Given the description of an element on the screen output the (x, y) to click on. 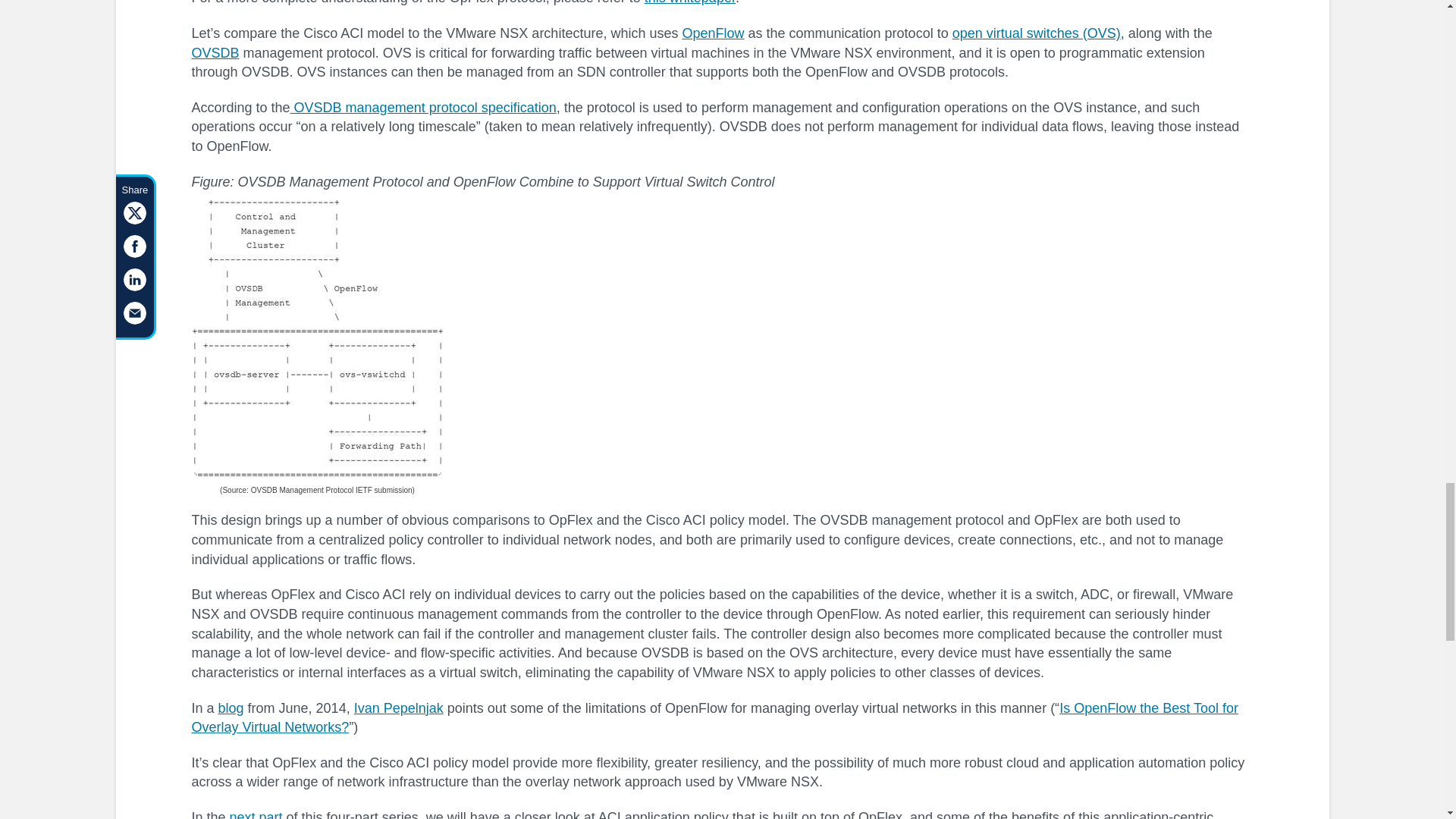
Open Virtual Switch (1036, 32)
OVSDB (214, 52)
OVSDB (214, 52)
blog (231, 708)
OVSDB management protocol specification (422, 107)
OVSDB (316, 338)
Ivan Pepelnjak (398, 708)
OVSDB IEFT specification (422, 107)
Ivan Pepelnjak on twitter (398, 708)
ACI Policy Language - Part 3 (256, 814)
this whitepaper (690, 2)
OpenFlow (712, 32)
next part (256, 814)
OpenFlow (712, 32)
